Given the description of an element on the screen output the (x, y) to click on. 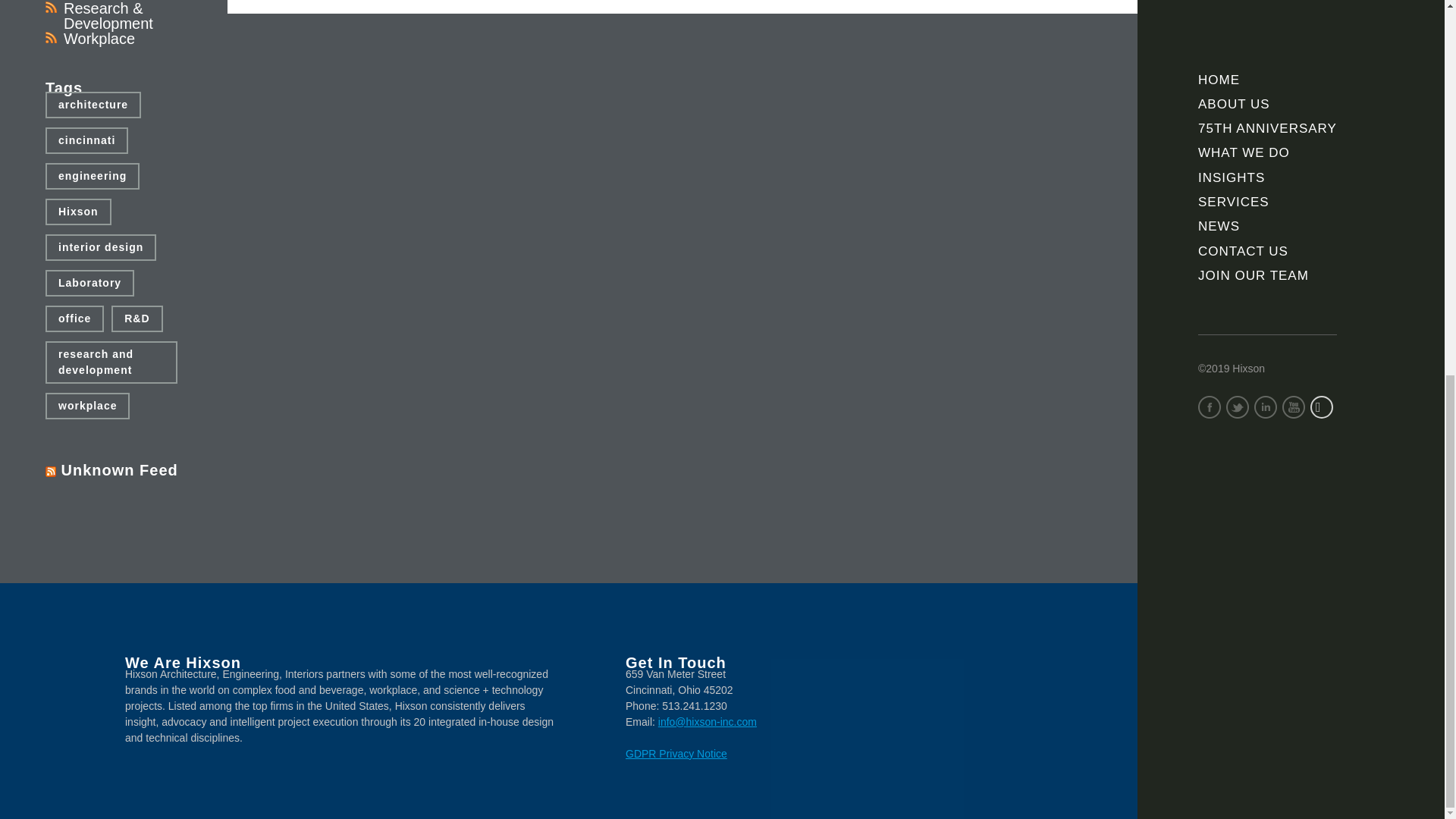
Hixson (78, 212)
cincinnati (86, 140)
engineering (92, 175)
office (74, 318)
architecture (93, 104)
Workplace (99, 38)
research and development (111, 362)
Laboratory (89, 283)
interior design (100, 247)
